Given the description of an element on the screen output the (x, y) to click on. 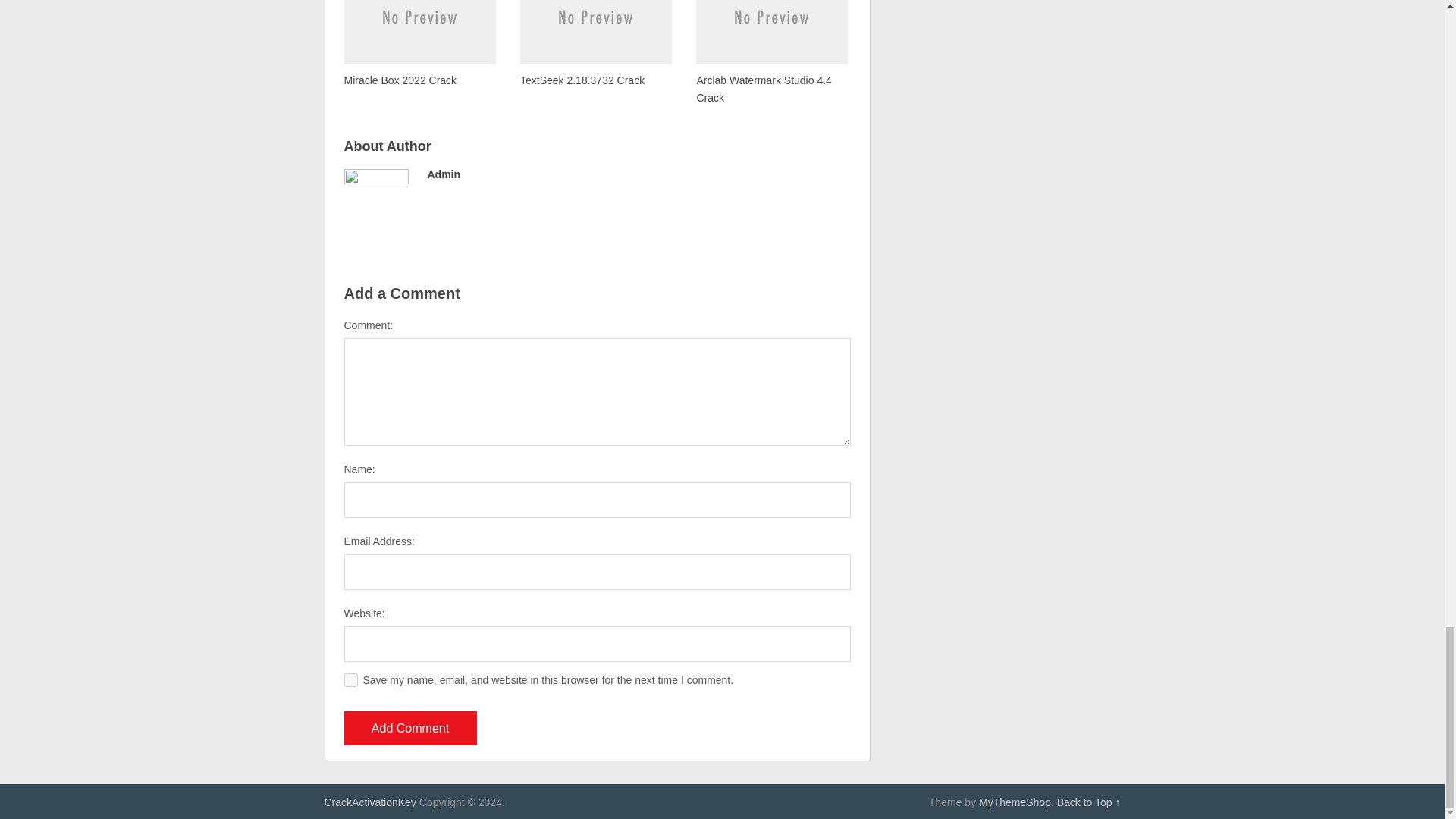
TextSeek 2.18.3732 Crack (595, 44)
Add Comment (410, 728)
Add Comment (410, 728)
Arclab Watermark Studio 4.4 Crack (771, 53)
VST PC , Premium Mac, Crack Windows Softwares (370, 802)
Miracle Box 2022 Crack (419, 44)
TextSeek 2.18.3732 Crack (595, 44)
yes (350, 680)
Arclab Watermark Studio 4.4 Crack (771, 53)
Miracle Box 2022 Crack (419, 44)
